Given the description of an element on the screen output the (x, y) to click on. 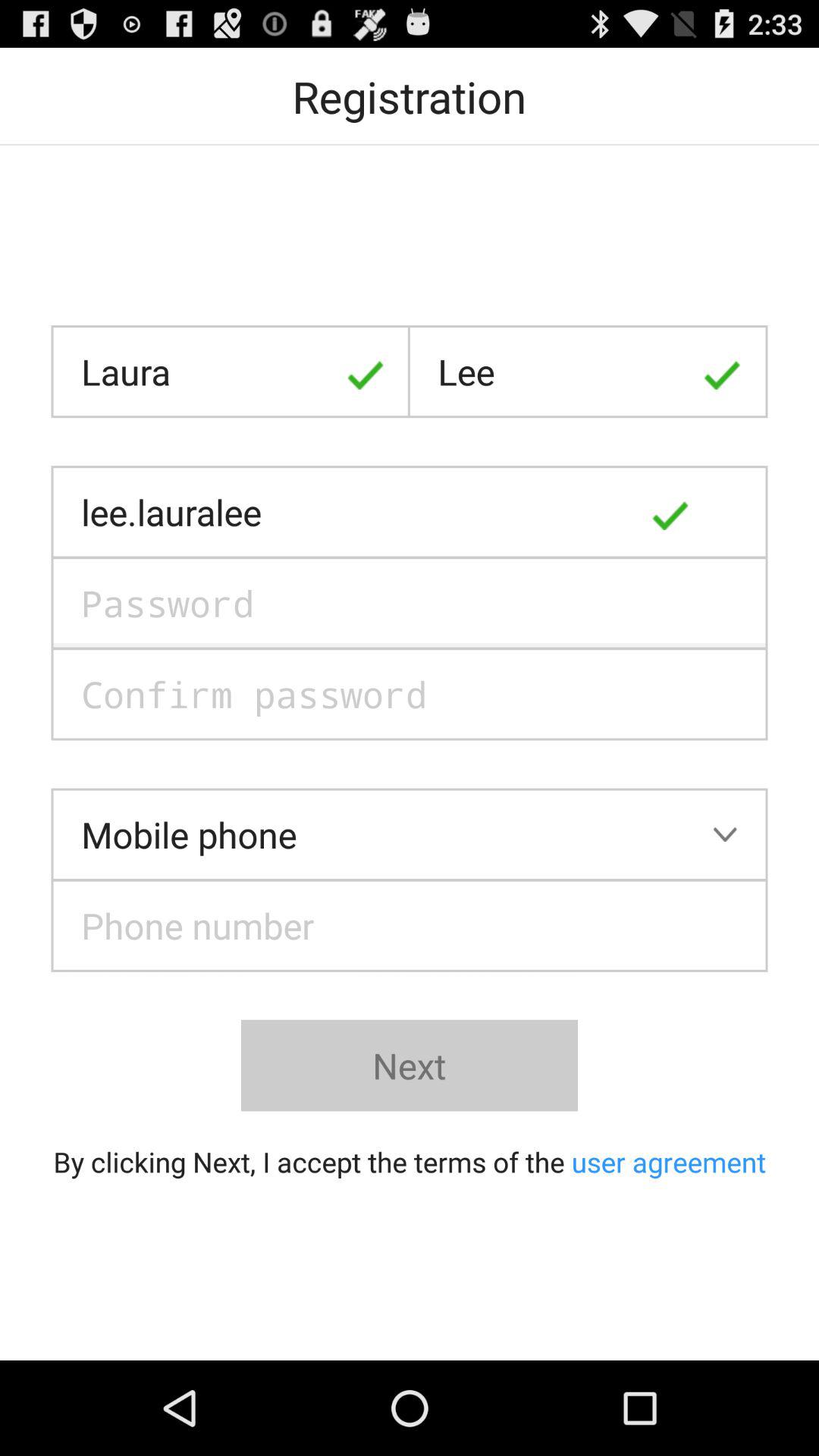
click the icon at the top left corner (231, 371)
